Given the description of an element on the screen output the (x, y) to click on. 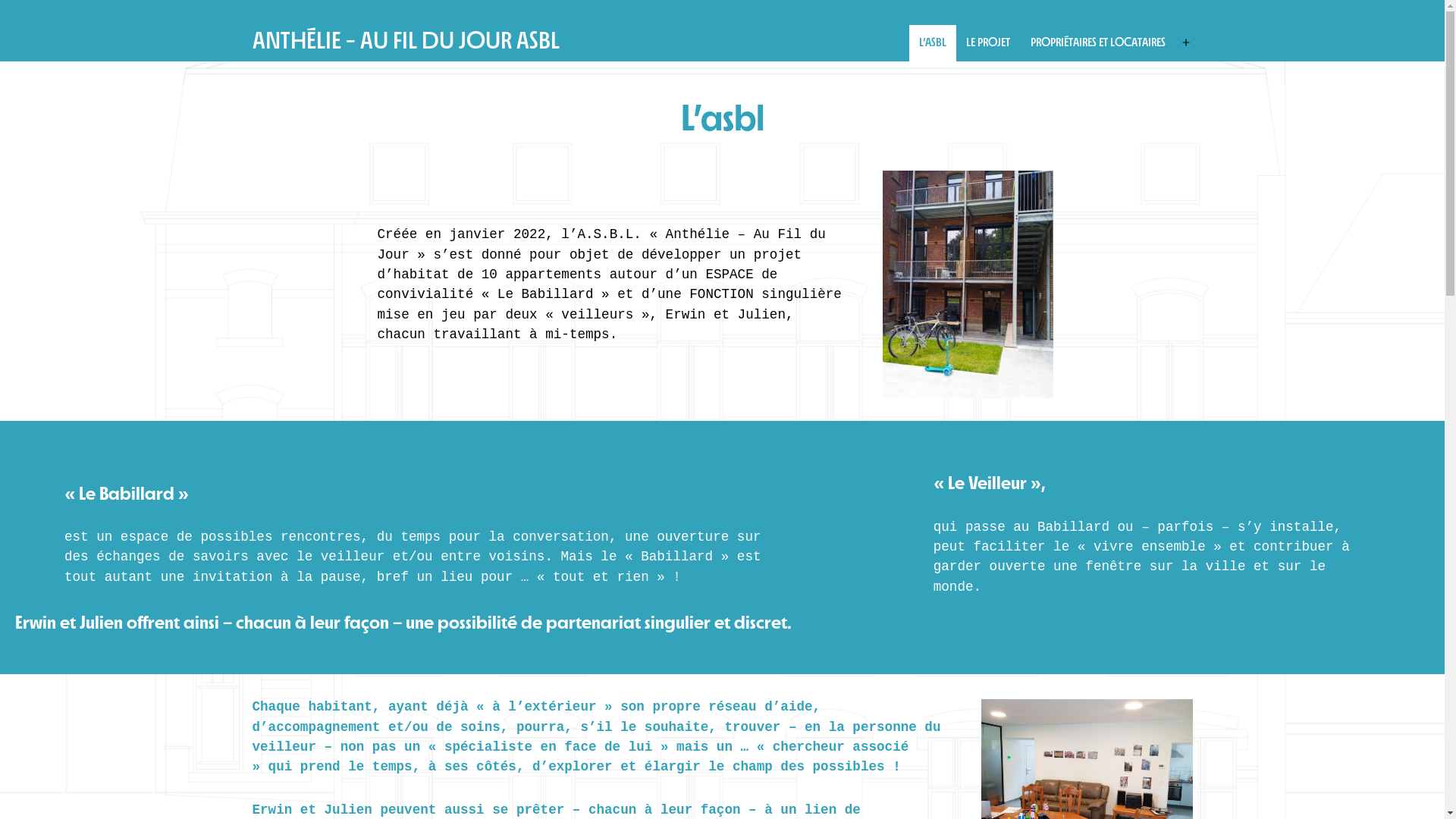
Open menu Element type: text (1185, 43)
LE PROJET Element type: text (987, 43)
